Given the description of an element on the screen output the (x, y) to click on. 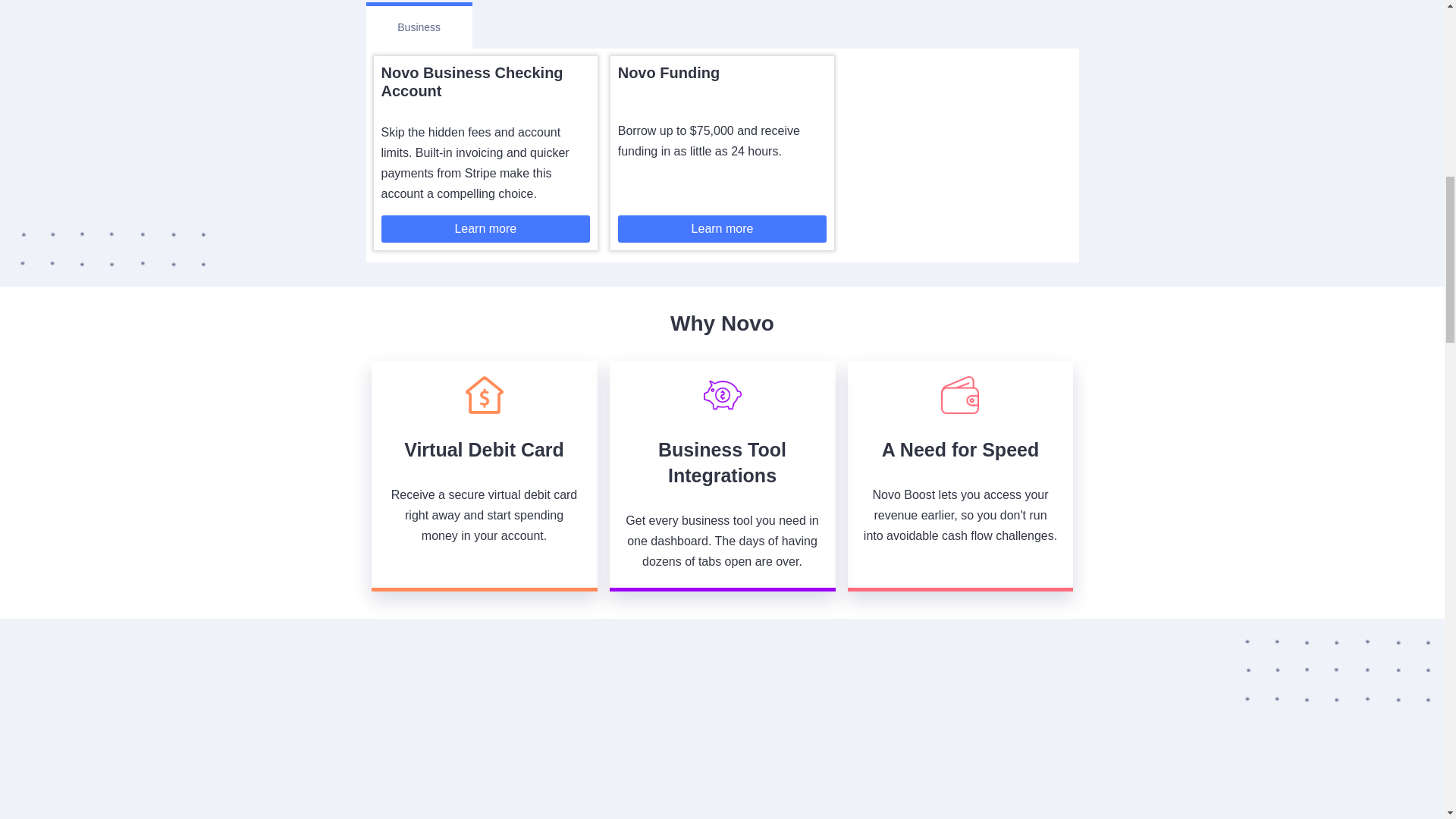
Novo Funding (668, 72)
Novo Business Checking Account (471, 81)
Learn more (722, 228)
Learn more (484, 228)
